Given the description of an element on the screen output the (x, y) to click on. 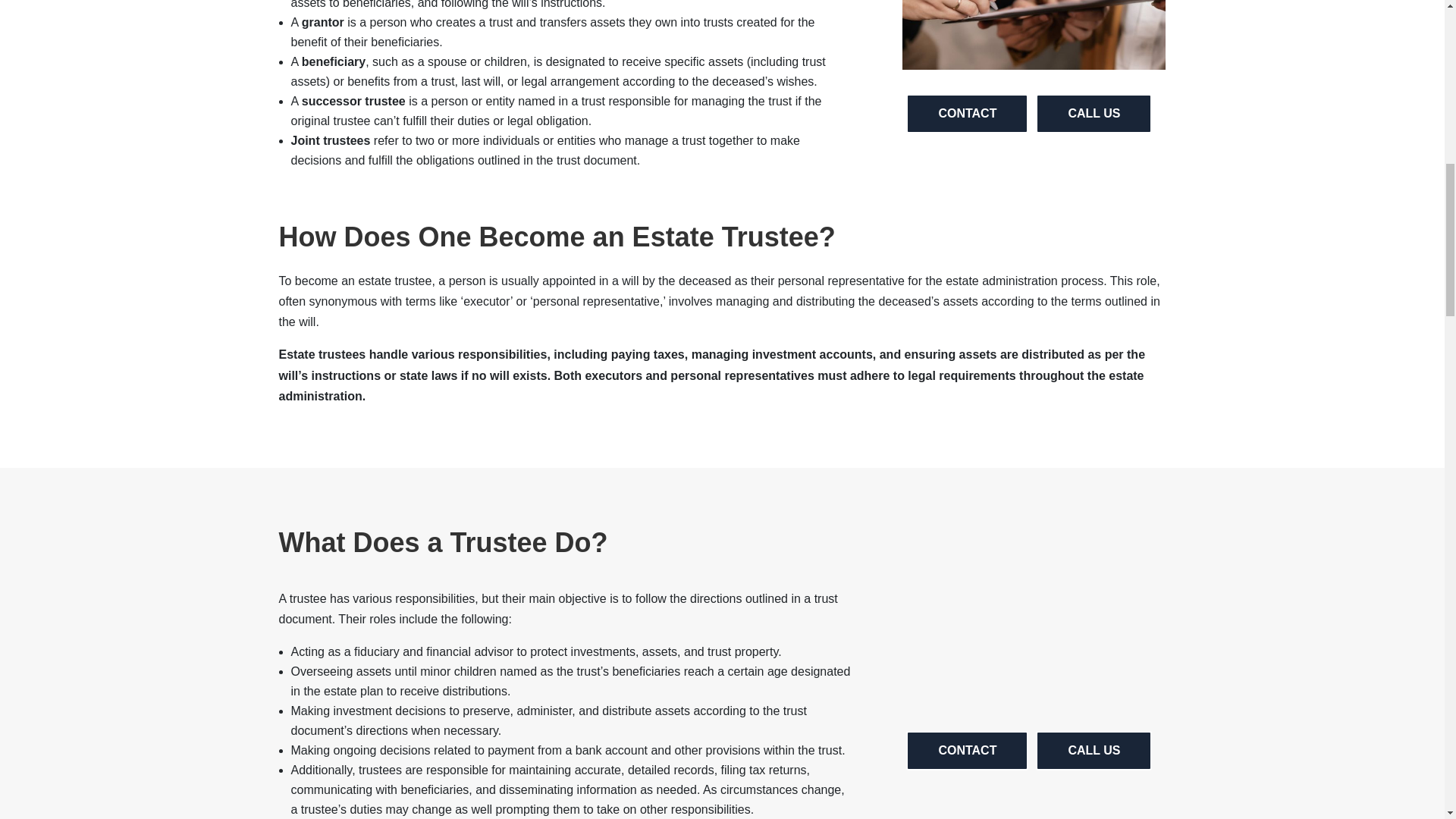
CONTACT (966, 113)
What a Trustee Does (1034, 617)
CALL US (1093, 113)
Key Terms to Know regarding Estate Trustees (1034, 35)
CONTACT (966, 750)
